Given the description of an element on the screen output the (x, y) to click on. 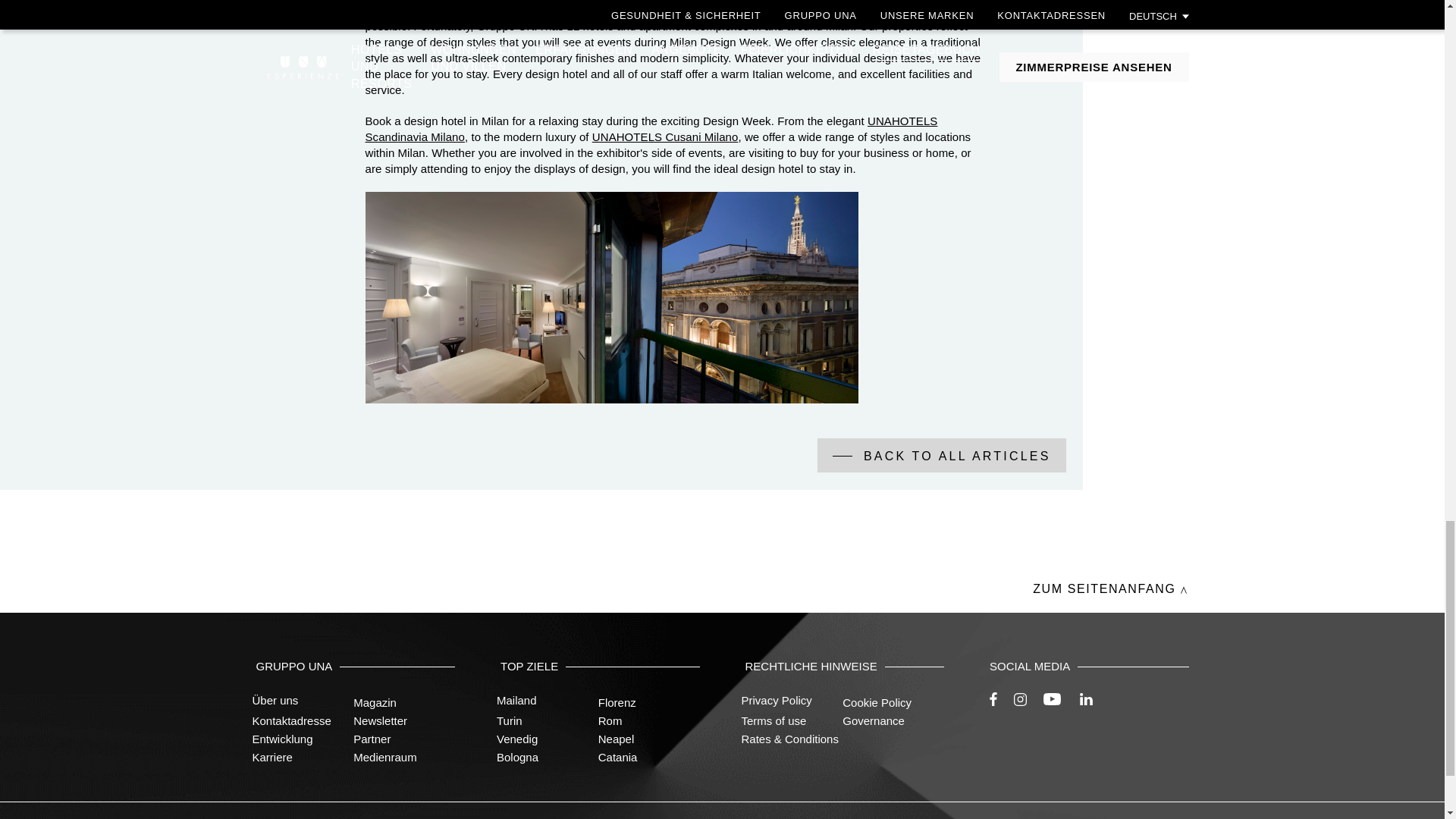
BACK TO ALL ARTICLES (940, 455)
ZUM SEITENANFANG (1109, 588)
Newsletter (380, 720)
UNAHOTELS Cusani Milano (665, 136)
UNAHOTELS Scandinavia Milano (651, 128)
ZUM SEITENANFANG (1109, 588)
Kontaktadresse (290, 720)
Magazin (374, 702)
